Given the description of an element on the screen output the (x, y) to click on. 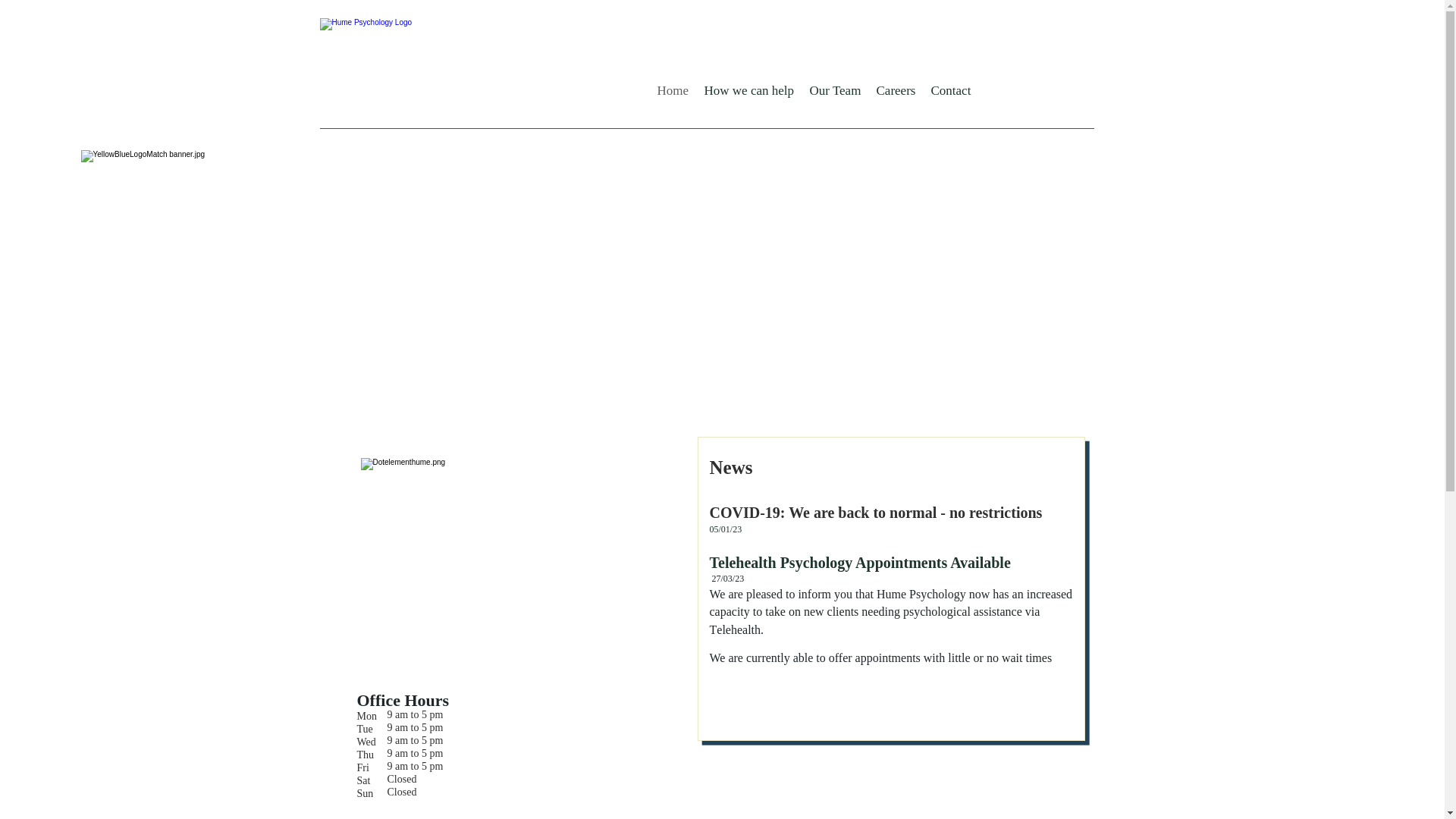
How we can help Element type: text (748, 90)
Hume Psychology Element type: hover (468, 68)
Our Team Element type: text (835, 90)
Contact Element type: text (951, 90)
Careers Element type: text (896, 90)
Home Element type: text (672, 90)
